Given the description of an element on the screen output the (x, y) to click on. 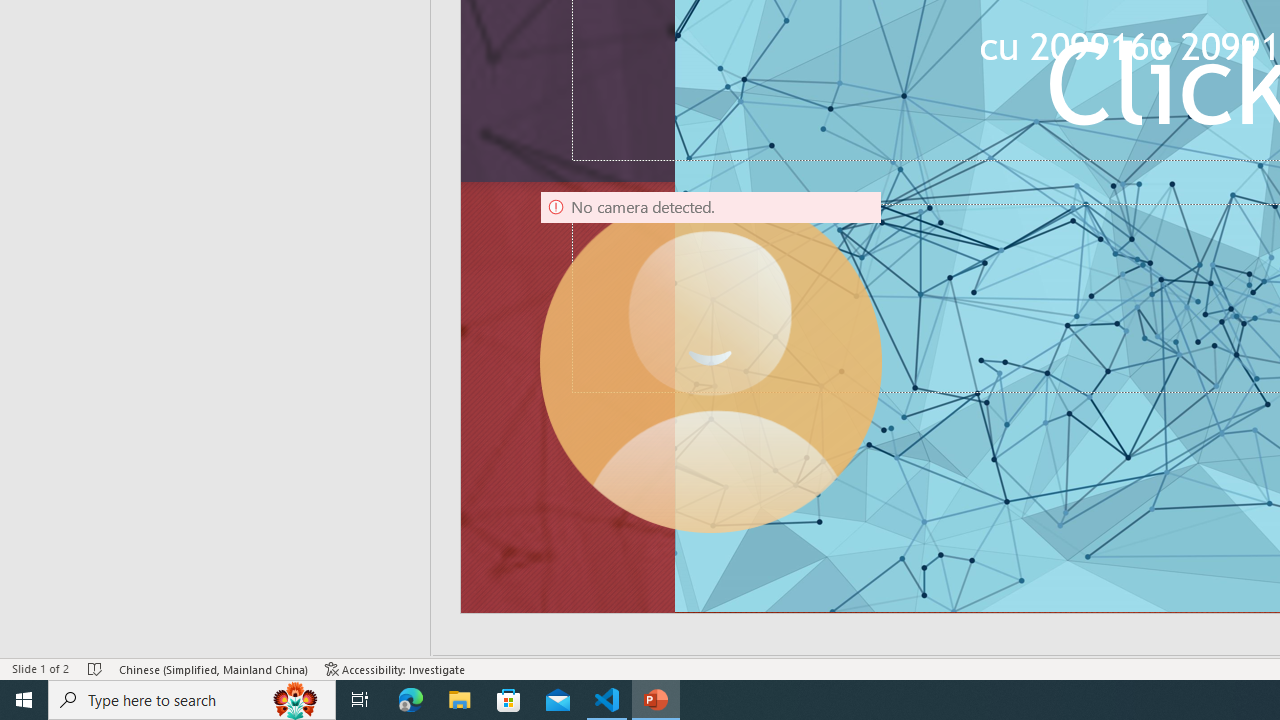
Camera 9, No camera detected. (710, 362)
